Given the description of an element on the screen output the (x, y) to click on. 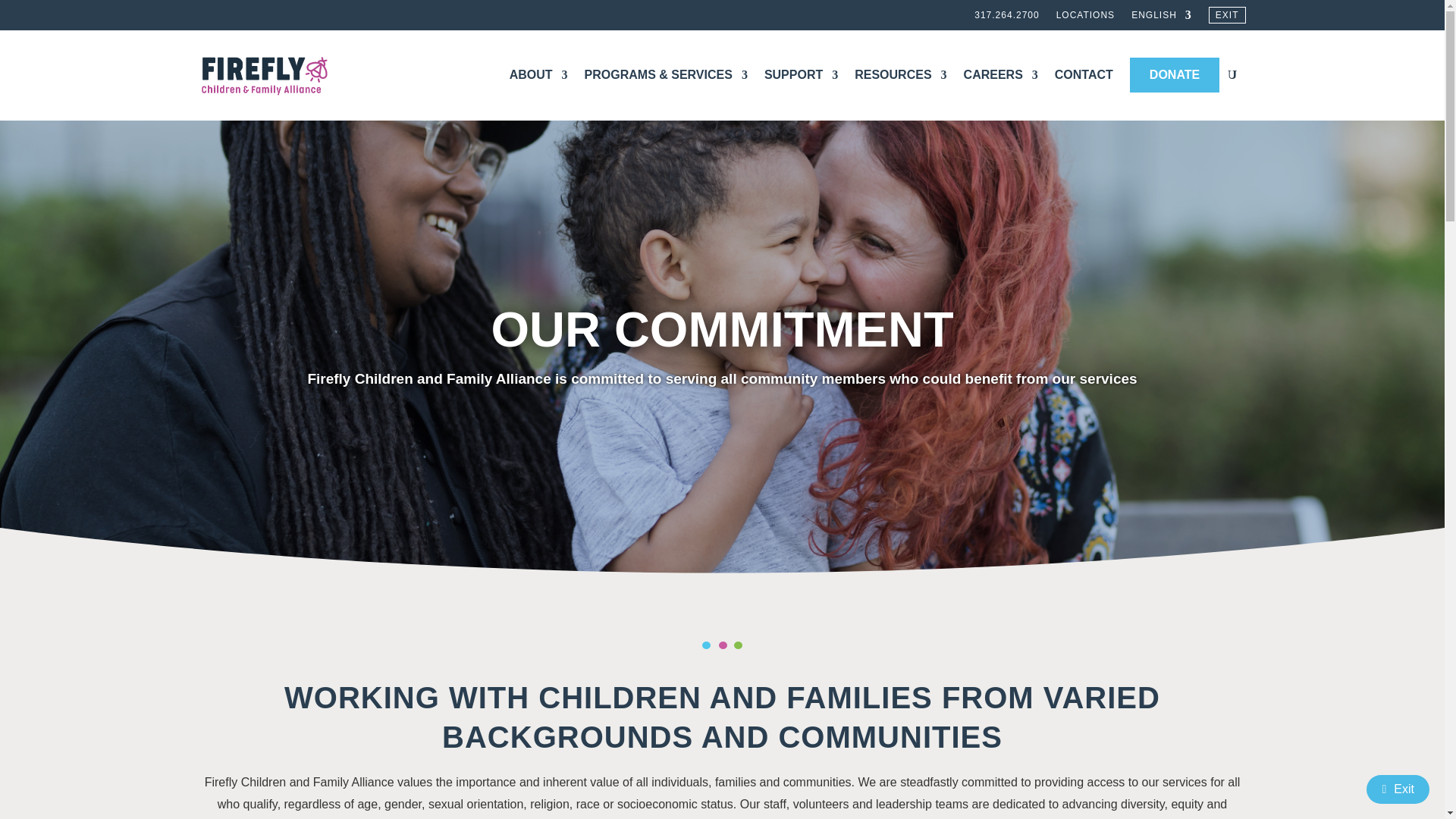
ENGLISH (1161, 17)
LOCATIONS (1086, 17)
EXIT (1227, 17)
Exit (1398, 788)
dots (721, 645)
317.264.2700 (1006, 17)
